Given the description of an element on the screen output the (x, y) to click on. 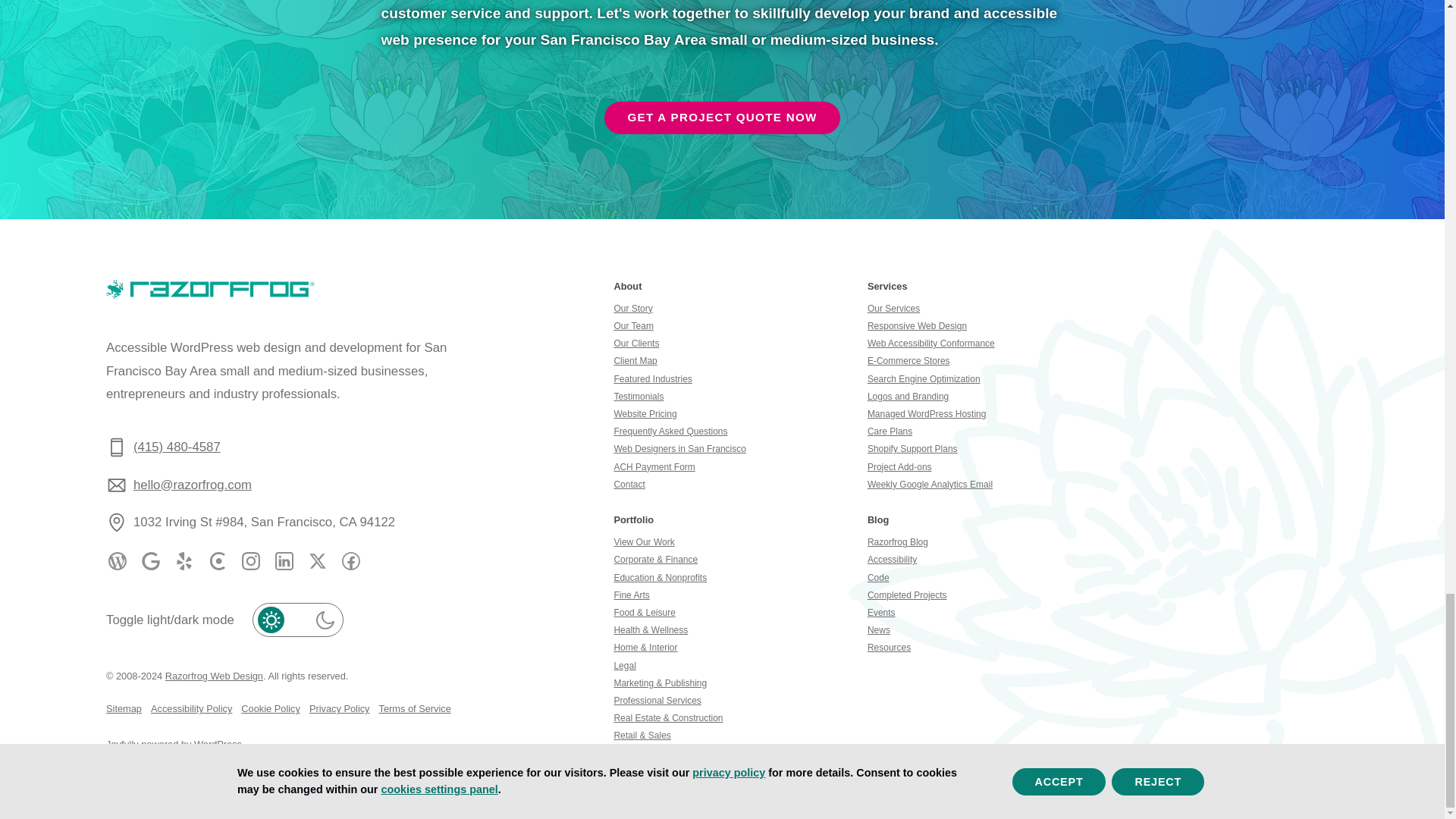
Yelp Business Listing (183, 561)
Toggle color mode (297, 619)
on (297, 619)
Razorfrog Web Design (214, 675)
Facebook Company Page (350, 561)
Cookie Policy (270, 708)
LinkedIn Company Profile (284, 561)
Accessibility Policy (191, 708)
Clutch Top Ranking Firm Profile (217, 561)
X Company Account (317, 561)
